Given the description of an element on the screen output the (x, y) to click on. 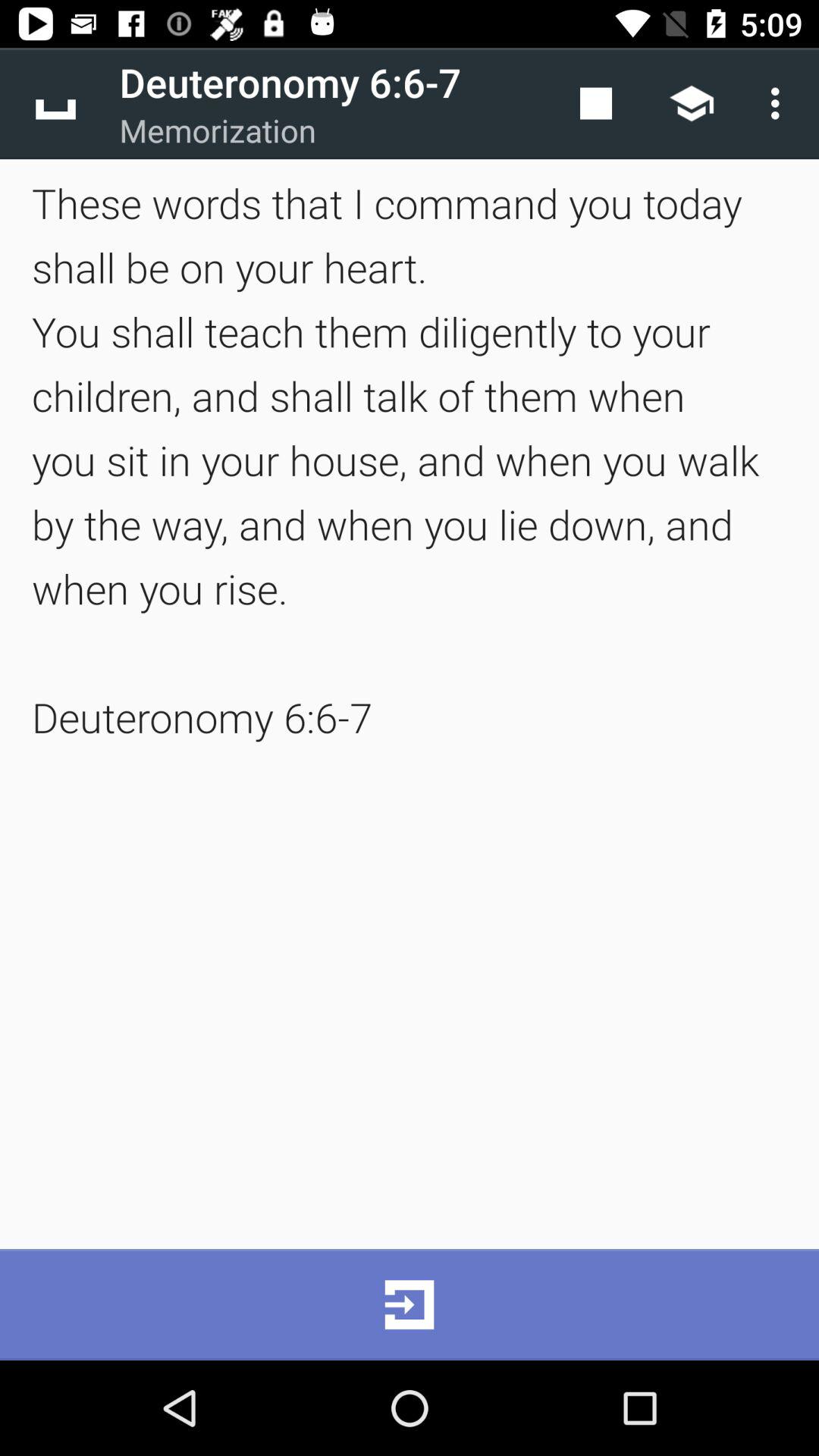
choose the app to the right of the deuteronomy 6 6 icon (595, 103)
